Given the description of an element on the screen output the (x, y) to click on. 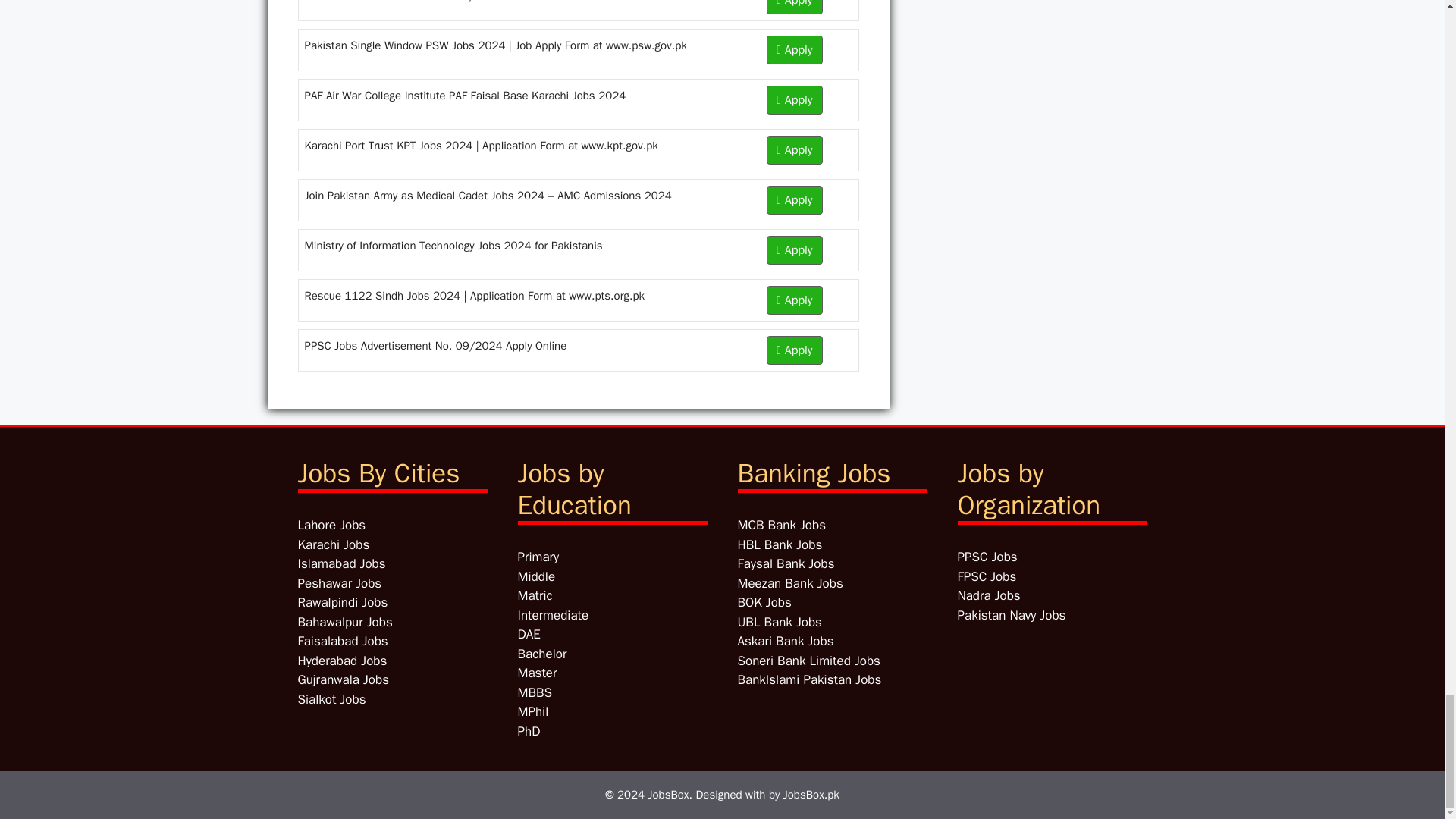
Jobs in Sialkot (331, 699)
Jobs in Lahore (331, 524)
Jobs in Hyderabad (342, 660)
Jobs in Karachi (333, 544)
Apply (794, 99)
Jobs in Islamabad (341, 563)
Lahore Jobs (331, 524)
Jobs in Faisalabad (342, 641)
Jobs in Bahawalpur (344, 621)
Apply (794, 349)
Ministry of Information Technology Jobs 2024 for Pakistanis (453, 245)
Jobs in Peshawar (339, 583)
Apply (794, 7)
Apply (794, 299)
